Given the description of an element on the screen output the (x, y) to click on. 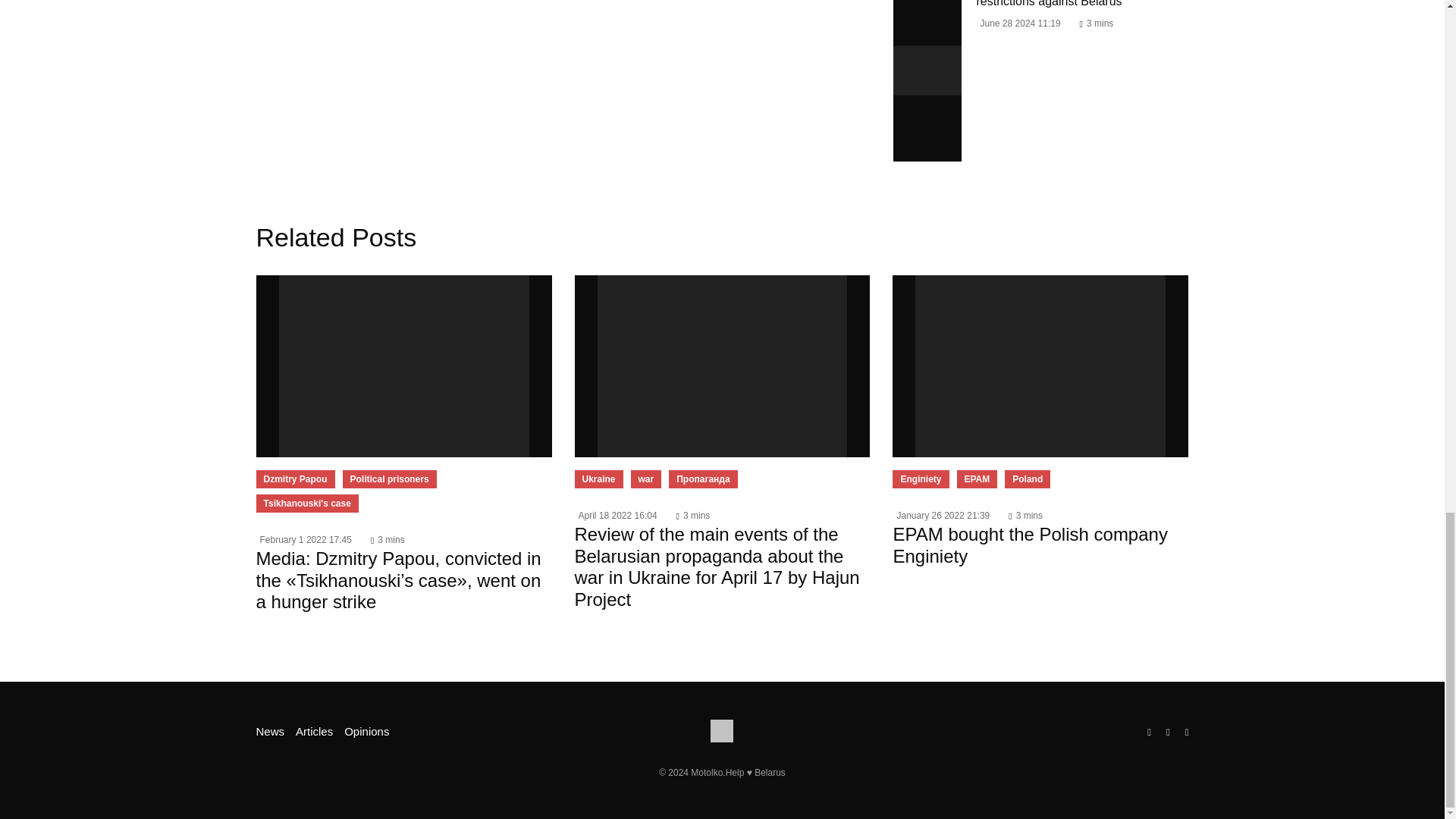
South Korea expands export restrictions against Belarus (926, 80)
EPAM bought the Polish company Enginiety (1040, 366)
